Given the description of an element on the screen output the (x, y) to click on. 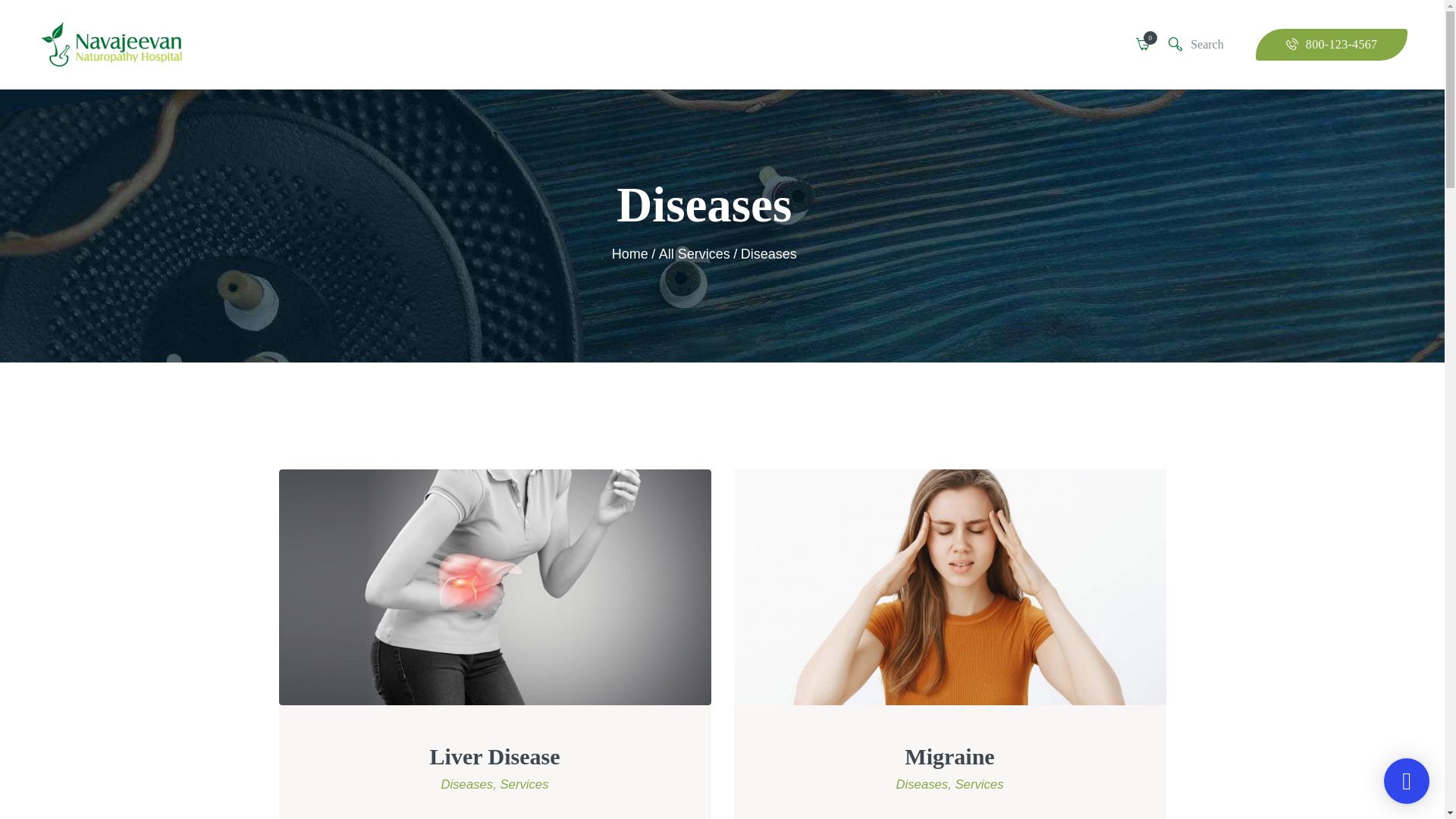
Services (979, 784)
Liver Disease (494, 756)
Services (523, 784)
Diseases, (925, 784)
View all posts in Services (523, 784)
View all posts in Diseases (470, 784)
Migraine (949, 756)
Diseases, (470, 784)
View all posts in Diseases (925, 784)
Home (629, 254)
View all posts in Services (979, 784)
All Services (694, 253)
800-123-4567 (1331, 44)
